Given the description of an element on the screen output the (x, y) to click on. 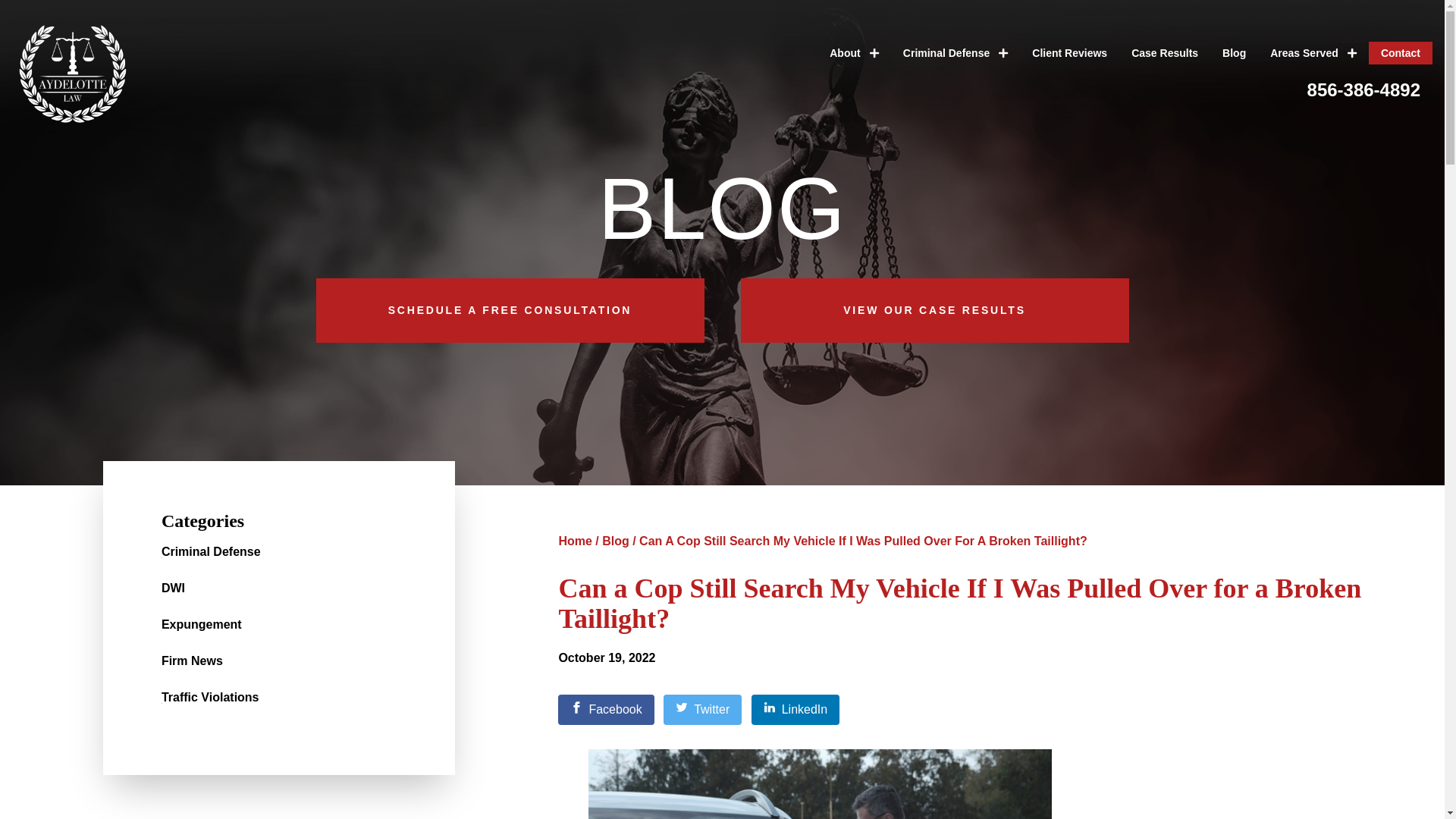
Areas Served (1312, 52)
About (853, 52)
Case Results (1164, 52)
Criminal Defense (955, 52)
Client Reviews (1069, 52)
Blog (1233, 52)
